Given the description of an element on the screen output the (x, y) to click on. 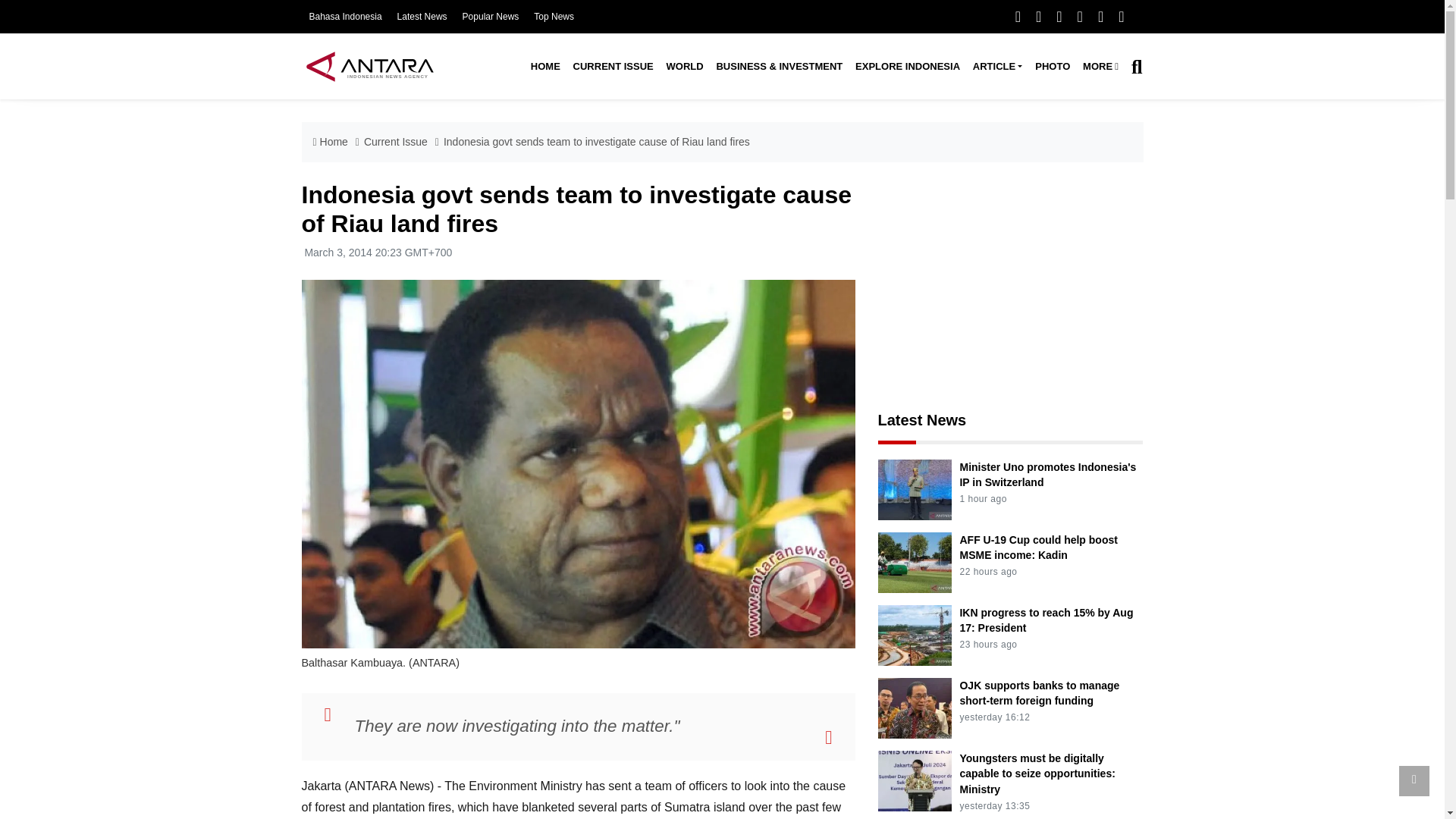
Popular News (491, 16)
Latest News (421, 16)
Current Issue (612, 66)
EXPLORE INDONESIA (907, 66)
Popular News (491, 16)
ANTARA News (369, 66)
Latest News (421, 16)
Article (996, 66)
Top News (553, 16)
Explore Indonesia (907, 66)
Bahasa Indonesia (344, 16)
ARTICLE (996, 66)
Bahasa Indonesia (344, 16)
Top News (553, 16)
